Given the description of an element on the screen output the (x, y) to click on. 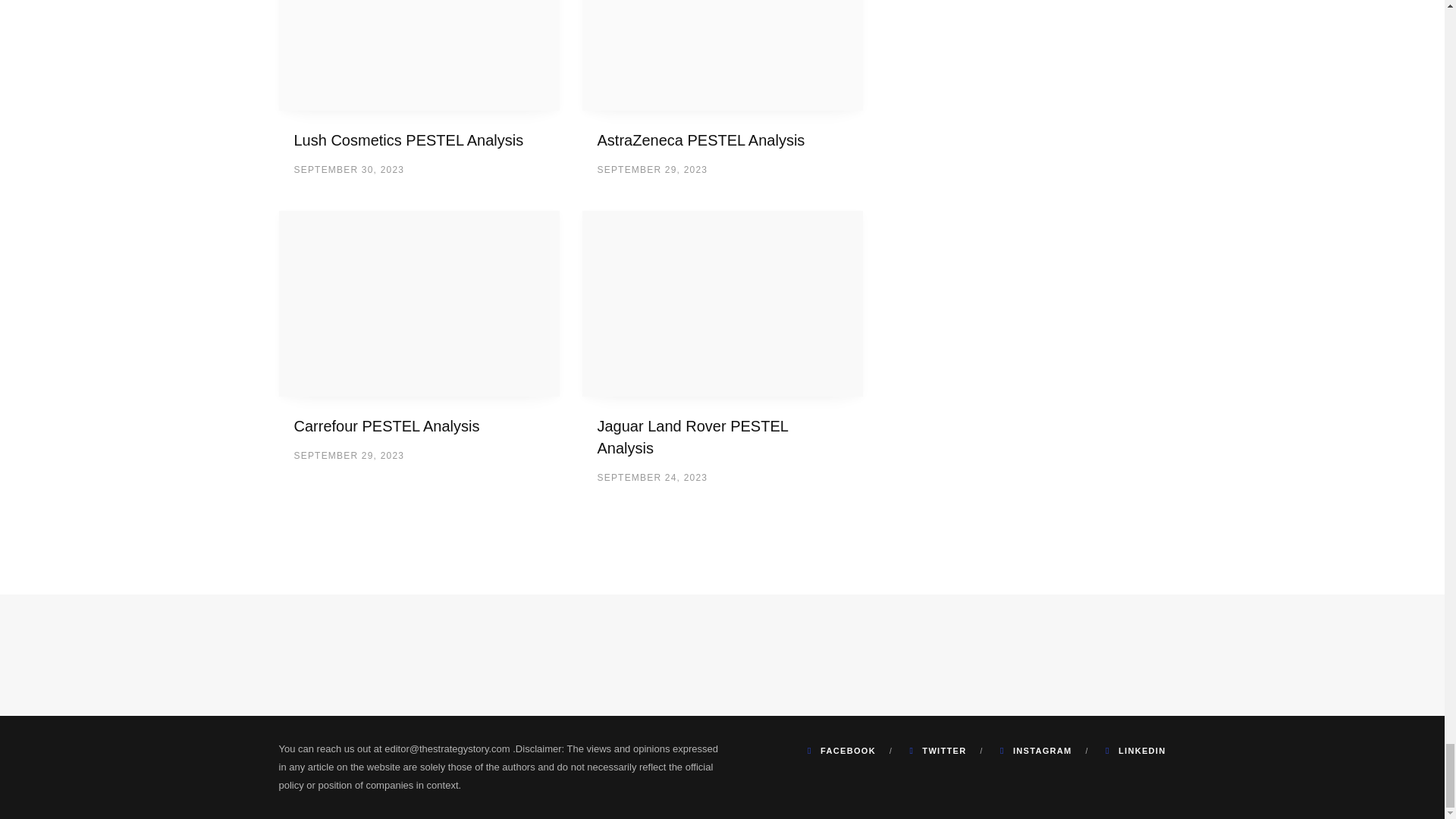
Lush Cosmetics PESTEL Analysis (409, 139)
Carrefour PESTEL Analysis (387, 425)
AstraZeneca PESTEL Analysis (700, 139)
